Given the description of an element on the screen output the (x, y) to click on. 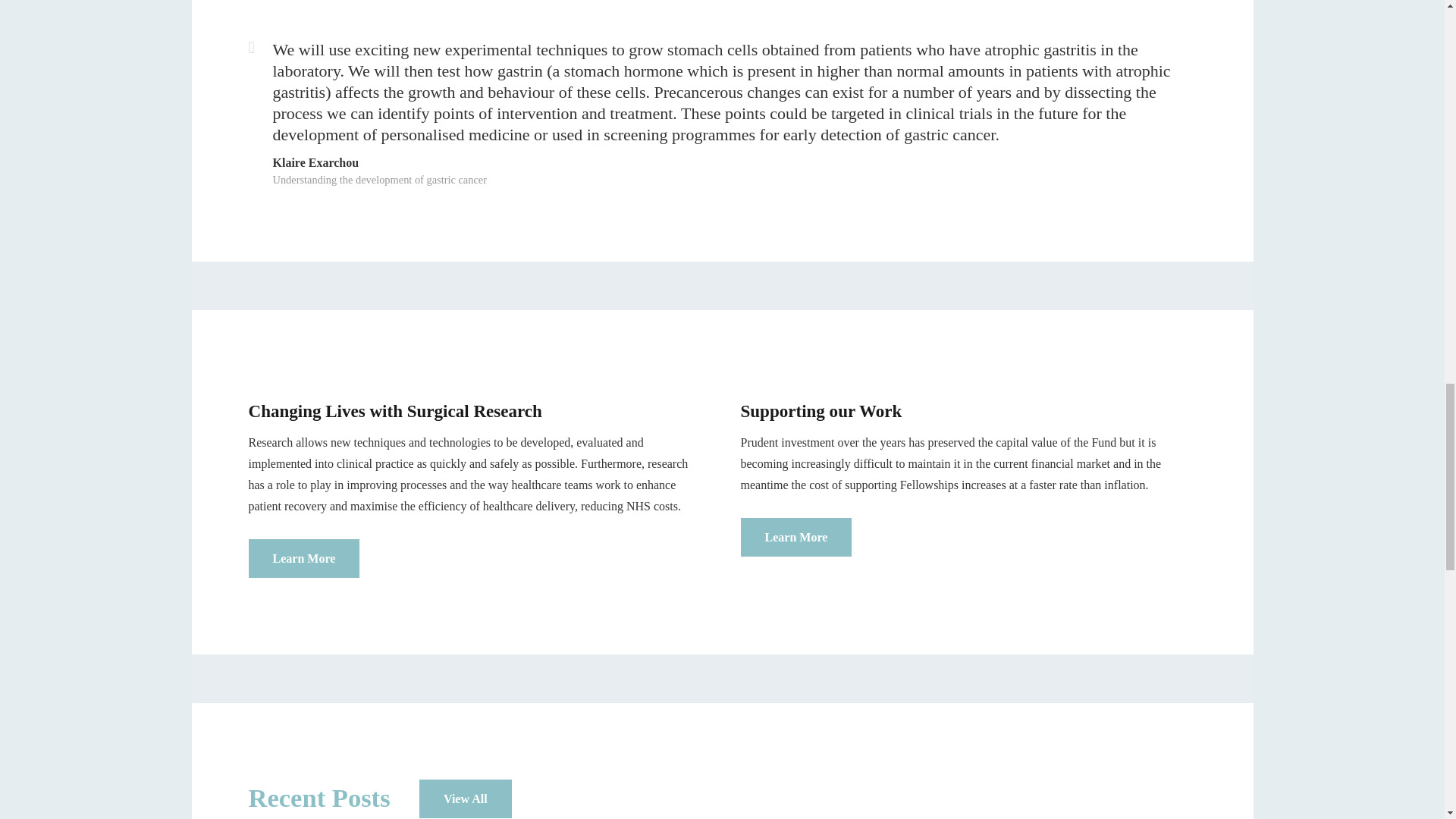
Changing Lives with Surgical Research (303, 558)
View All (465, 798)
Learn More (795, 536)
Supporting our Work (795, 536)
Learn More (303, 558)
